Given the description of an element on the screen output the (x, y) to click on. 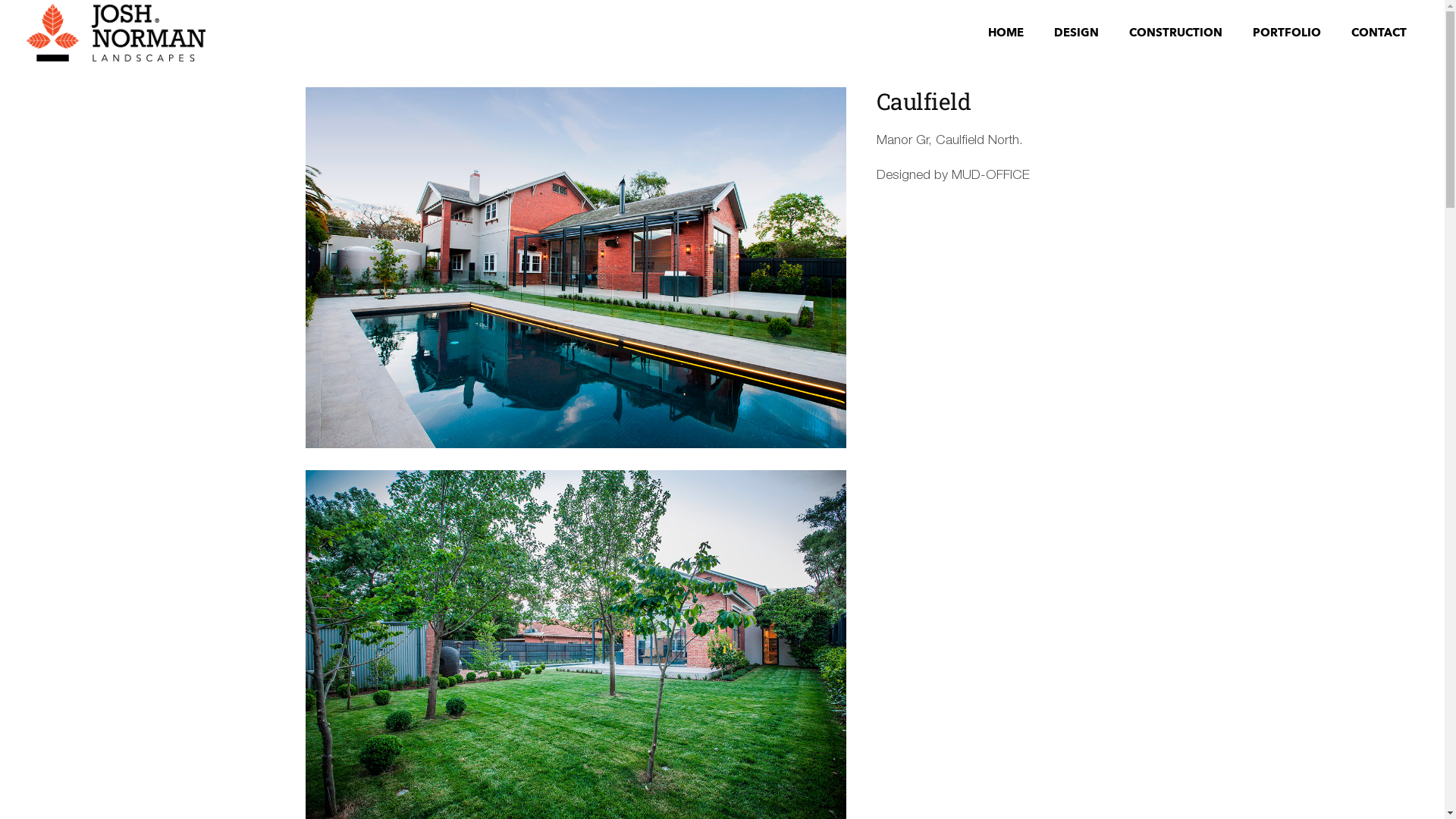
PORTFOLIO Element type: text (1286, 32)
DESIGN Element type: text (1075, 32)
HOME Element type: text (1005, 32)
josh_norman_landscapes_melbourne_project_1-0 Element type: hover (574, 444)
CONSTRUCTION Element type: text (1175, 32)
CONTACT Element type: text (1378, 32)
